Given the description of an element on the screen output the (x, y) to click on. 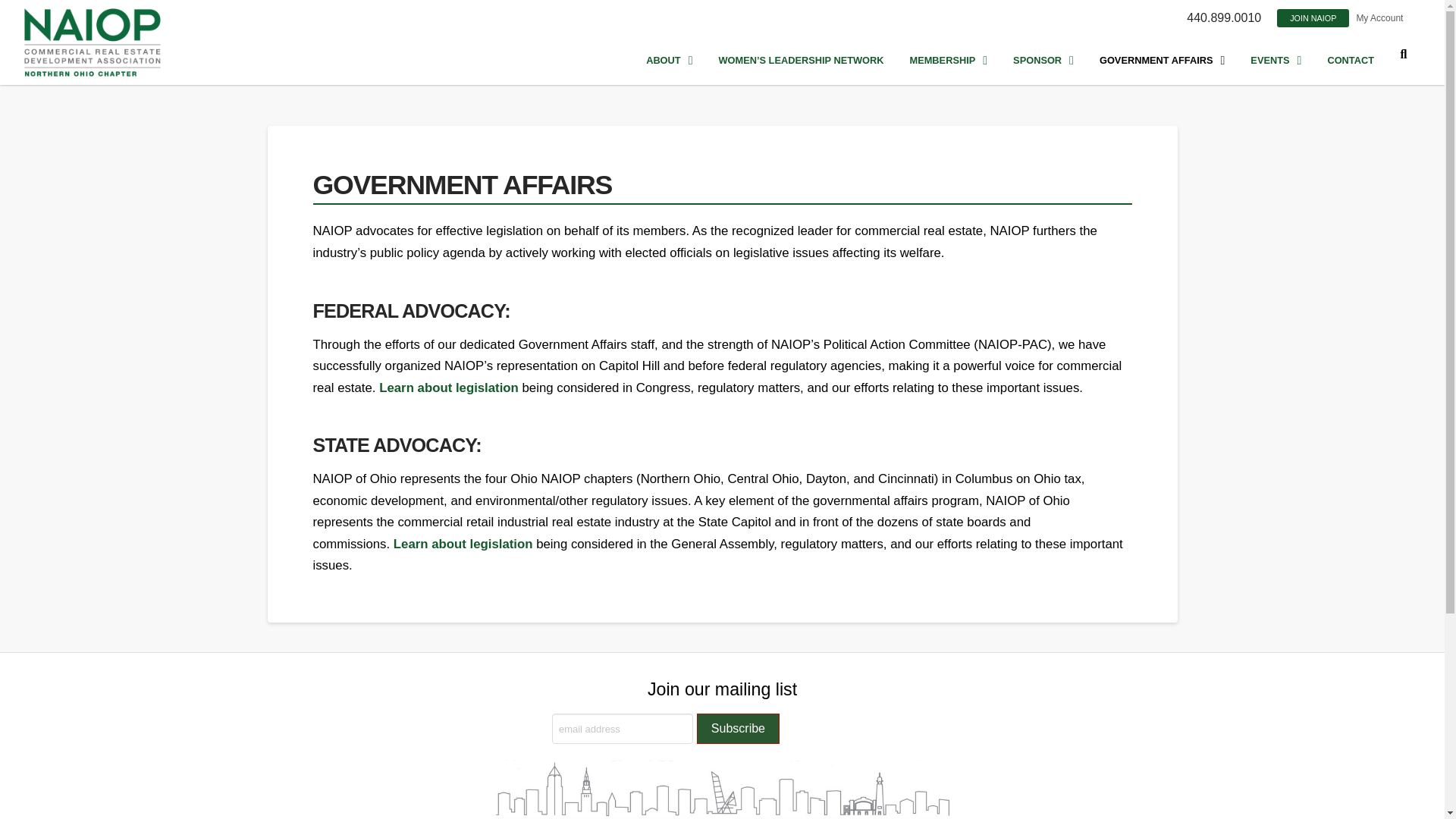
EVENTS (1275, 60)
440.899.0010 (1223, 17)
ABOUT (668, 60)
GOVERNMENT AFFAIRS (1161, 60)
MEMBERSHIP (948, 60)
Subscribe (737, 728)
SPONSOR (1043, 60)
JOIN NAIOP (1312, 18)
Learn about legislation (462, 544)
Subscribe (737, 728)
CONTACT (1350, 60)
Learn about legislation (448, 387)
My Account (1379, 18)
